Given the description of an element on the screen output the (x, y) to click on. 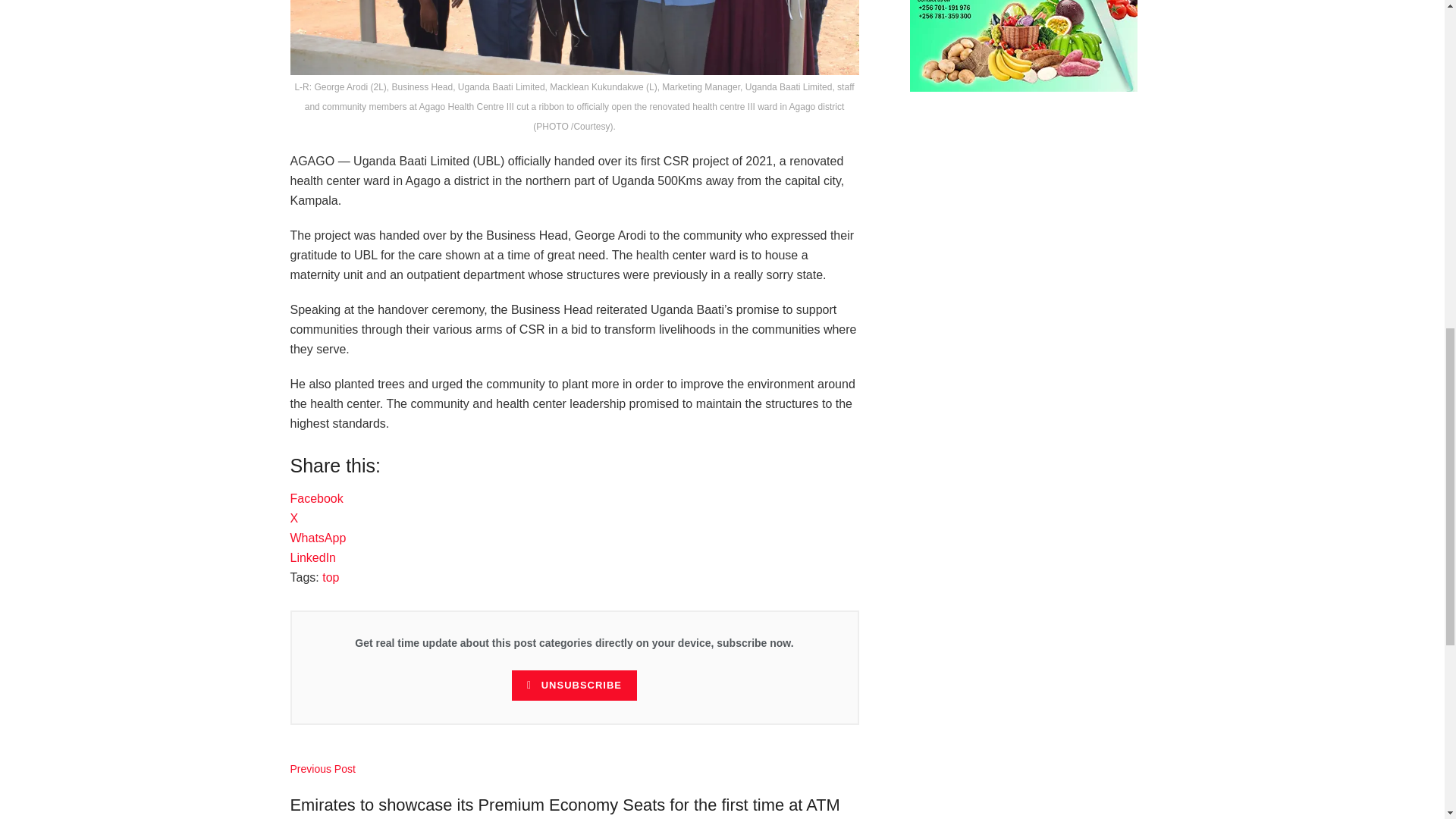
Click to share on LinkedIn (312, 557)
Click to share on Facebook (315, 498)
Click to share on WhatsApp (317, 537)
